Given the description of an element on the screen output the (x, y) to click on. 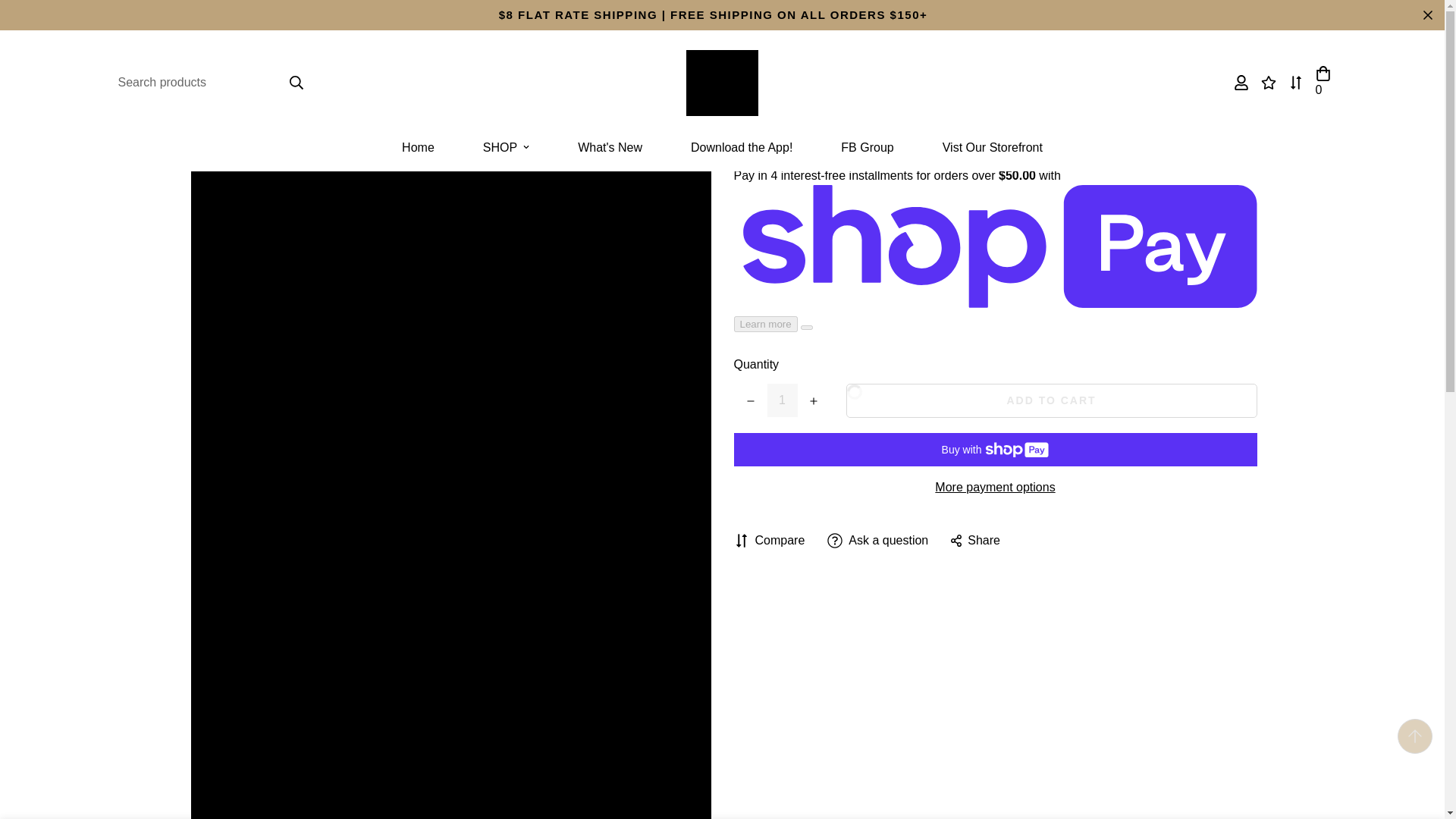
Vist Our Storefront (992, 147)
Home (417, 147)
What's New (609, 147)
1 (782, 400)
Back to the home page (611, 51)
0 (1322, 82)
FB Group (866, 147)
Boho and Boujee Boutique (721, 82)
SHOP (505, 147)
Download the App! (741, 147)
